Given the description of an element on the screen output the (x, y) to click on. 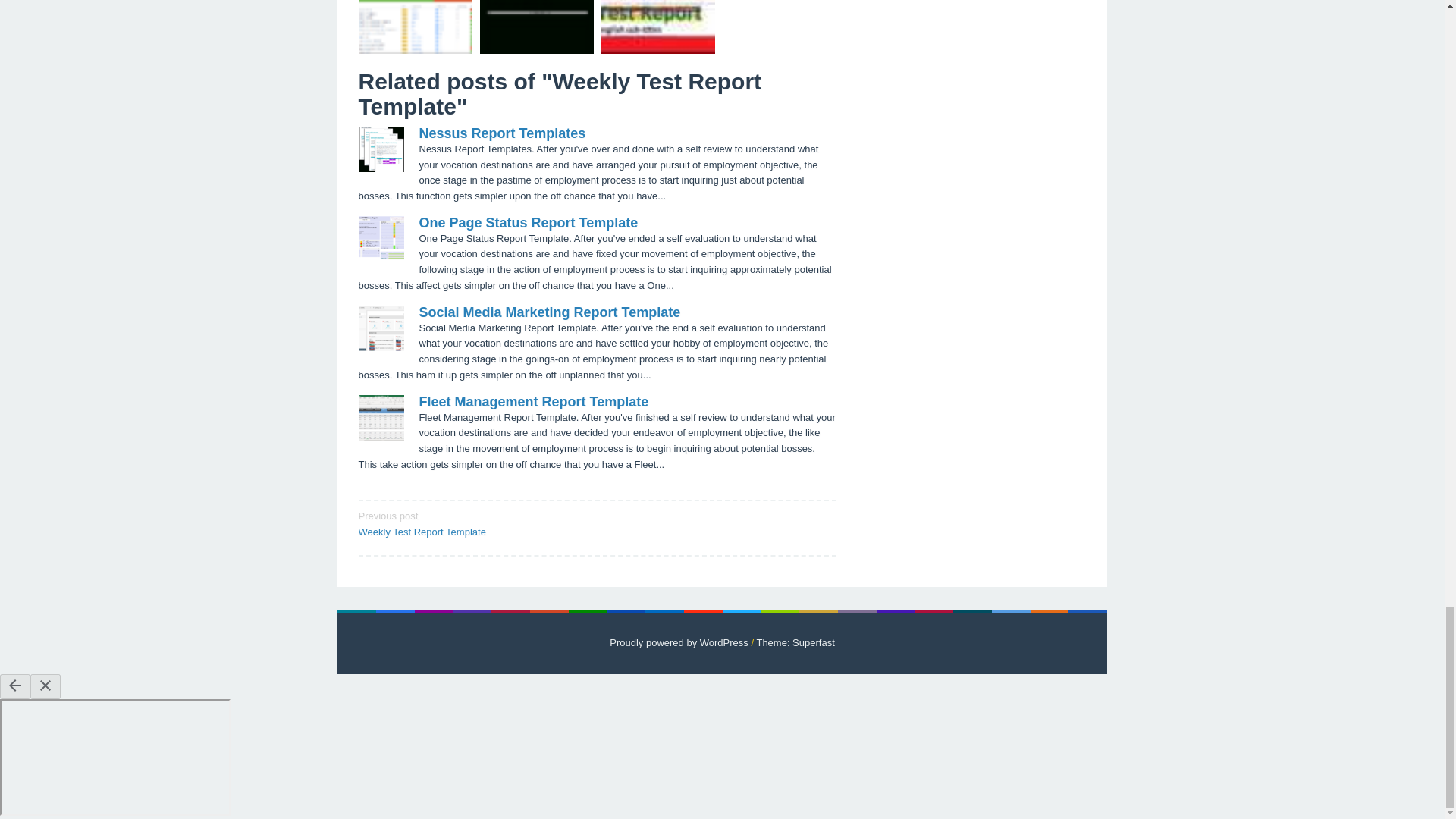
Nessus Report Templates (472, 522)
Theme: Superfast (502, 133)
Fleet Management Report Template (794, 642)
Social Media Marketing Report Template (533, 401)
One Page Status Report Template (549, 312)
Proudly powered by WordPress (528, 222)
